Given the description of an element on the screen output the (x, y) to click on. 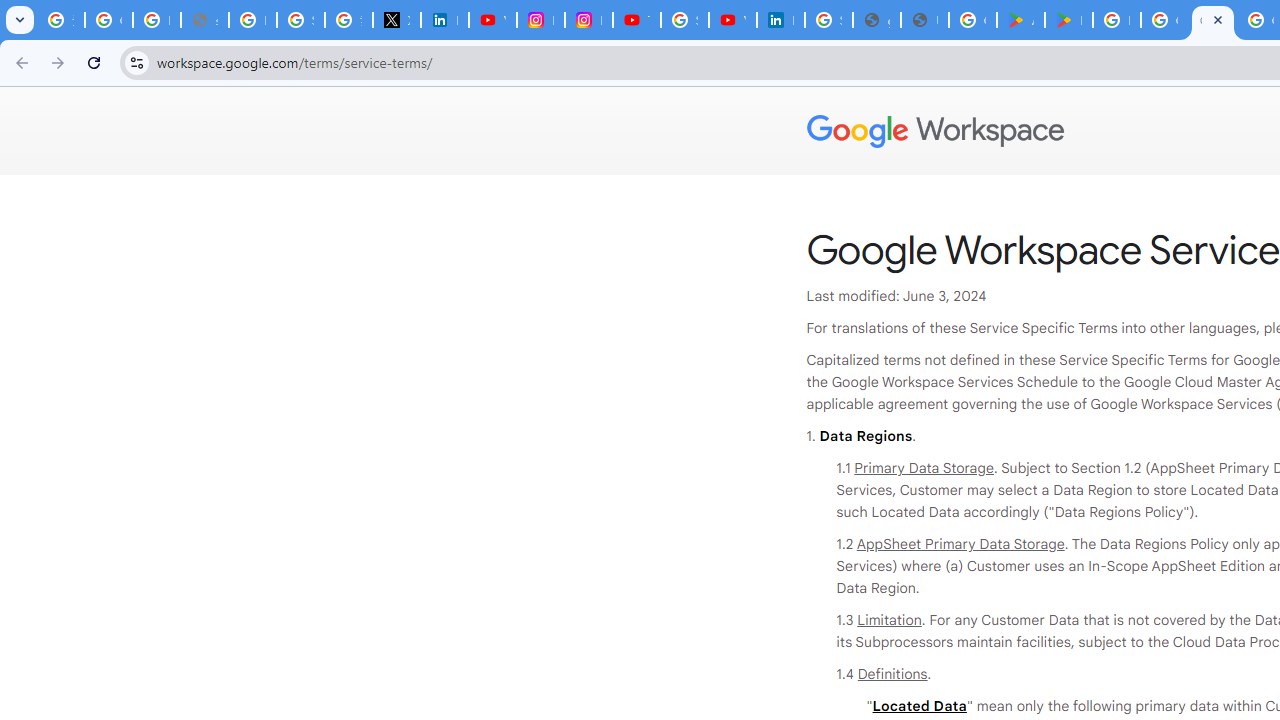
YouTube Content Monetization Policies - How YouTube Works (492, 20)
Sign in - Google Accounts (684, 20)
